Given the description of an element on the screen output the (x, y) to click on. 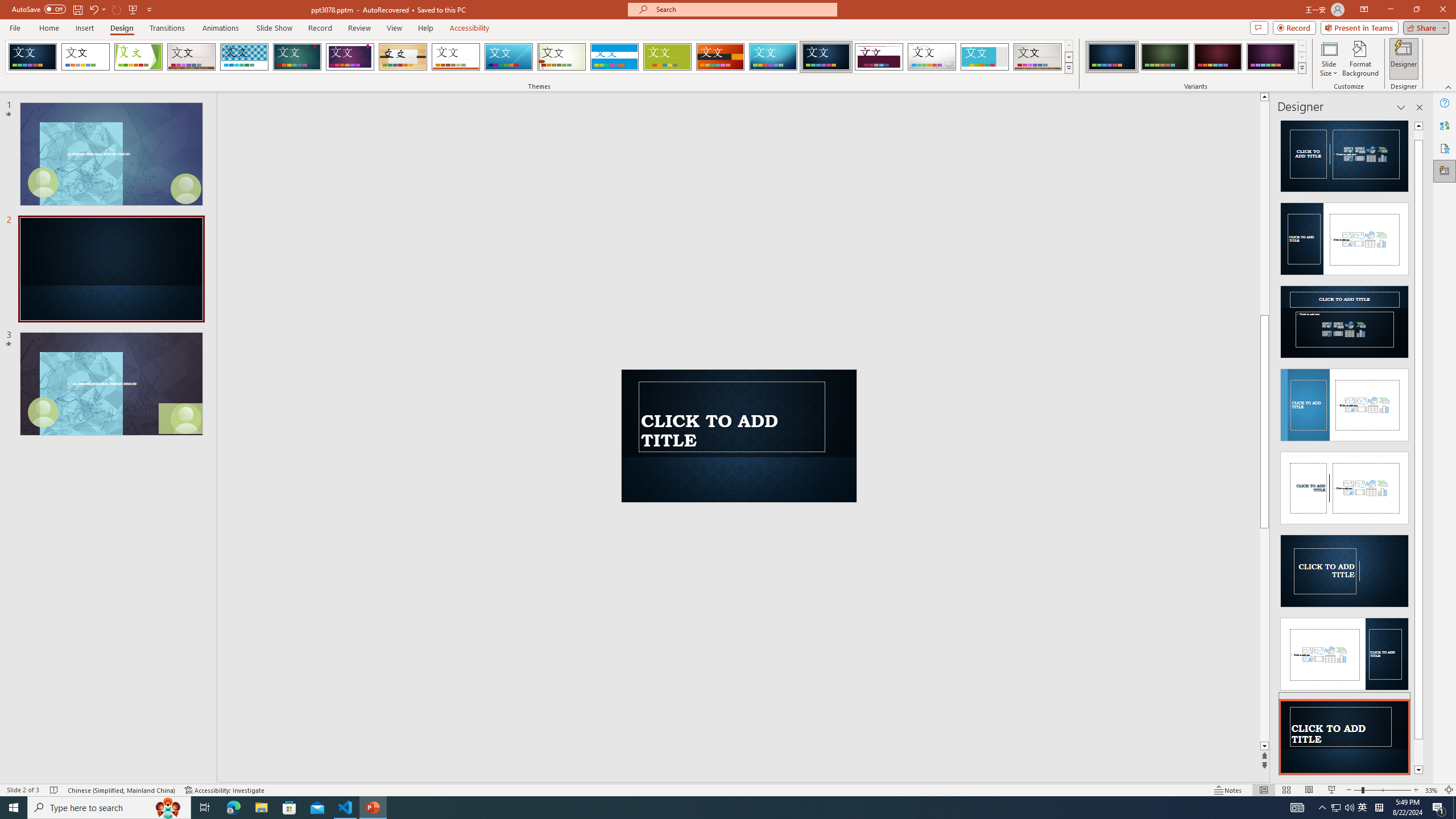
AutomationID: ThemeVariantsGallery (1195, 56)
Facet (138, 56)
Recommended Design: Design Idea (1344, 152)
Slice (508, 56)
Damask Variant 4 (1270, 56)
